Given the description of an element on the screen output the (x, y) to click on. 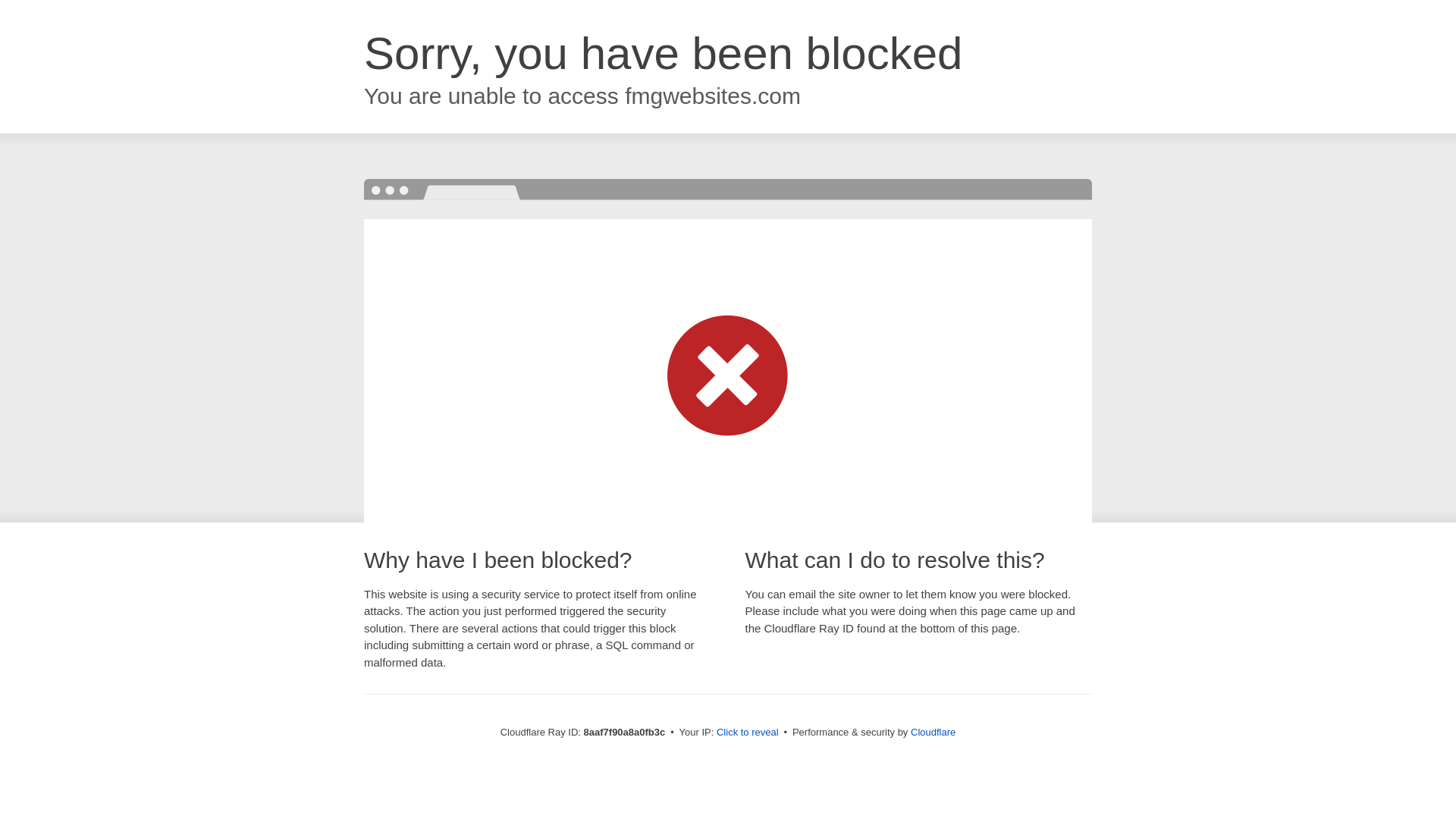
Cloudflare (933, 731)
Click to reveal (747, 732)
